Given the description of an element on the screen output the (x, y) to click on. 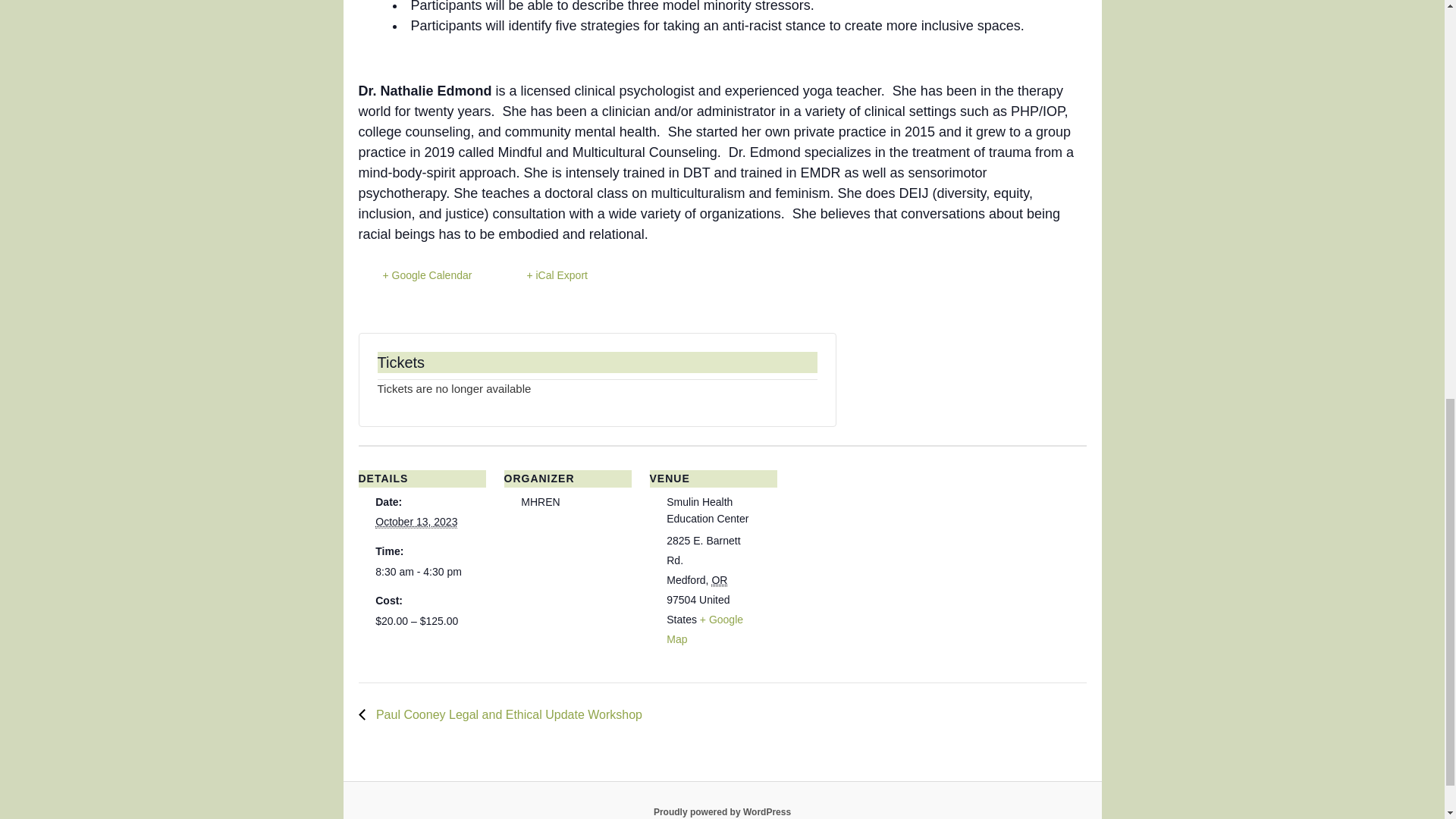
2023-10-13 (416, 521)
Click to view a Google Map (704, 629)
Download .ics file (545, 275)
Add to Google Calendar (414, 275)
Paul Cooney Legal and Ethical Update Workshop (503, 714)
Oregon (718, 580)
2023-10-13 (421, 571)
Semantic Personal Publishing Platform (721, 811)
Proudly powered by WordPress (721, 811)
